Given the description of an element on the screen output the (x, y) to click on. 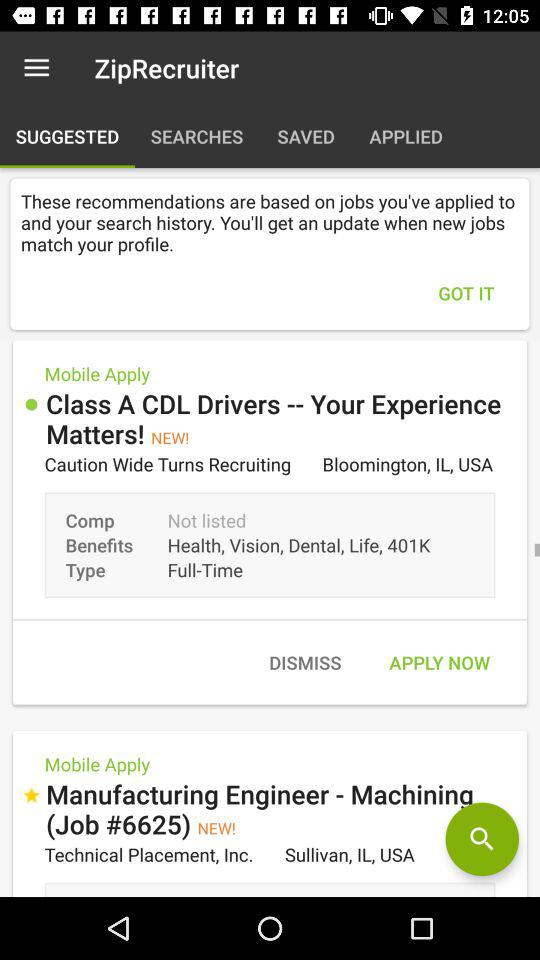
turn off item next to the apply now item (304, 662)
